Given the description of an element on the screen output the (x, y) to click on. 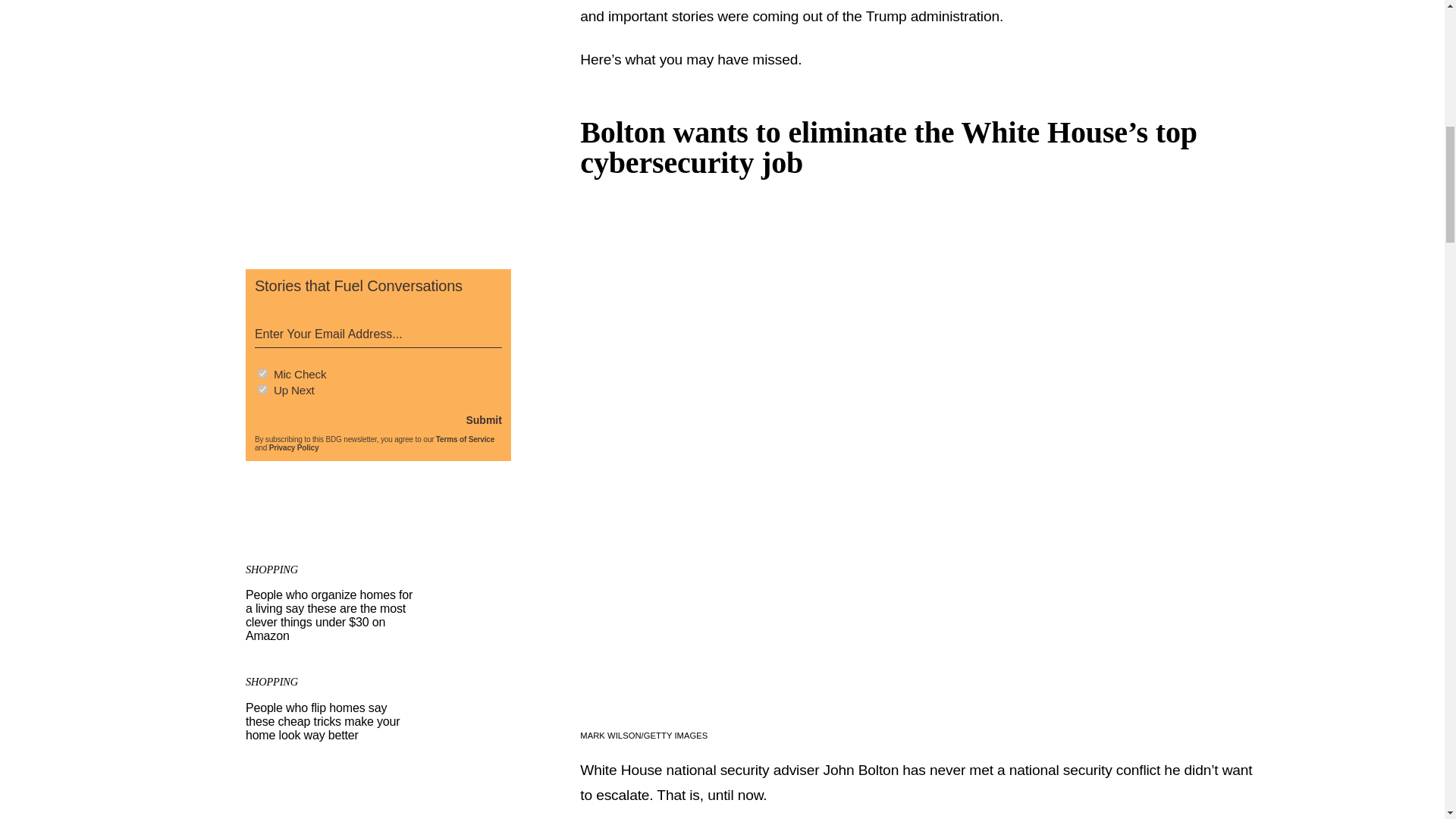
Privacy Policy (293, 447)
Terms of Service (465, 438)
Submit (482, 419)
